Given the description of an element on the screen output the (x, y) to click on. 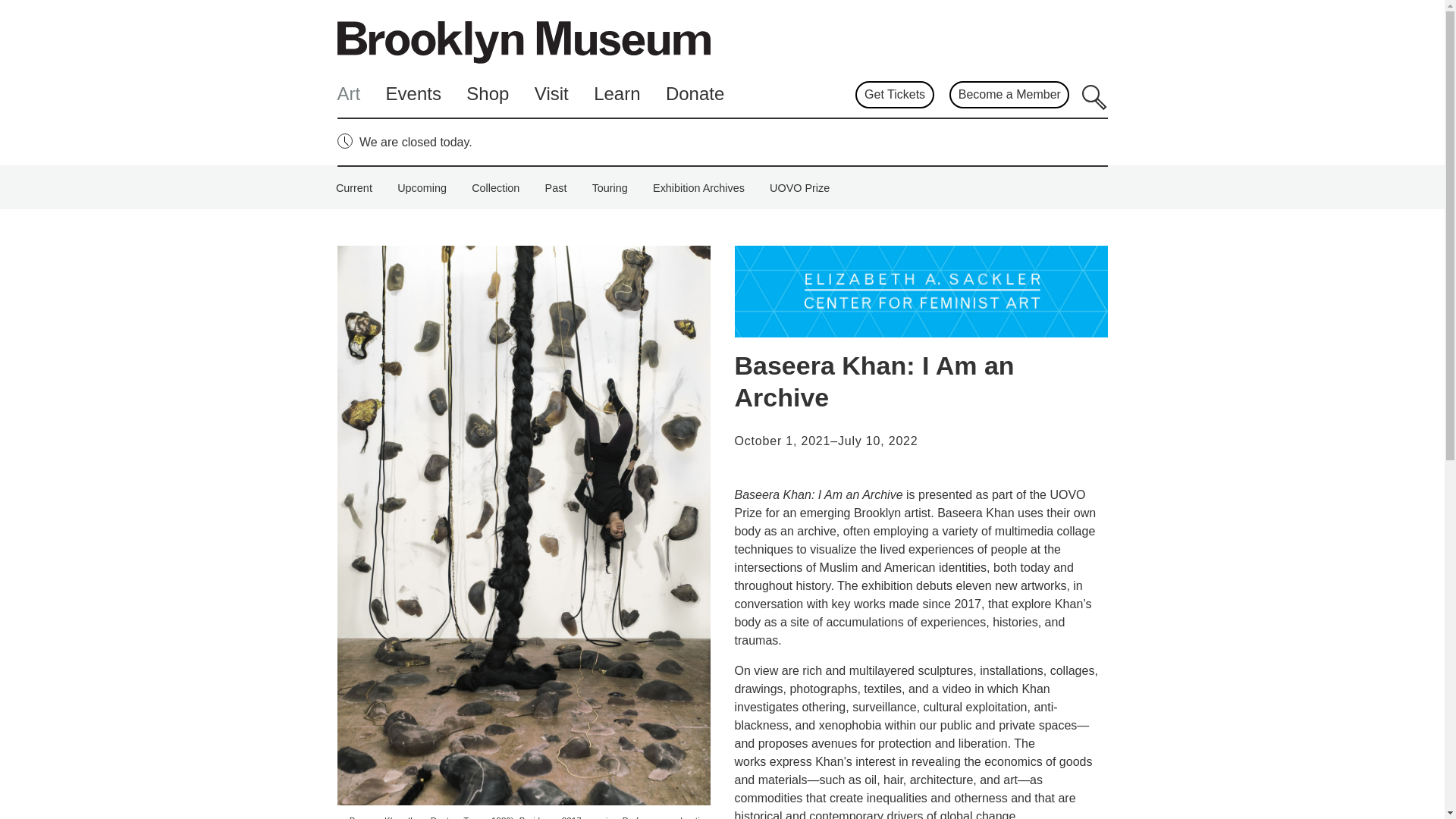
Art (347, 94)
Become a Member (1008, 94)
Shop (486, 94)
Learn (617, 94)
Events (413, 94)
Get Tickets (894, 94)
Visit (551, 94)
Donate (694, 94)
